Given the description of an element on the screen output the (x, y) to click on. 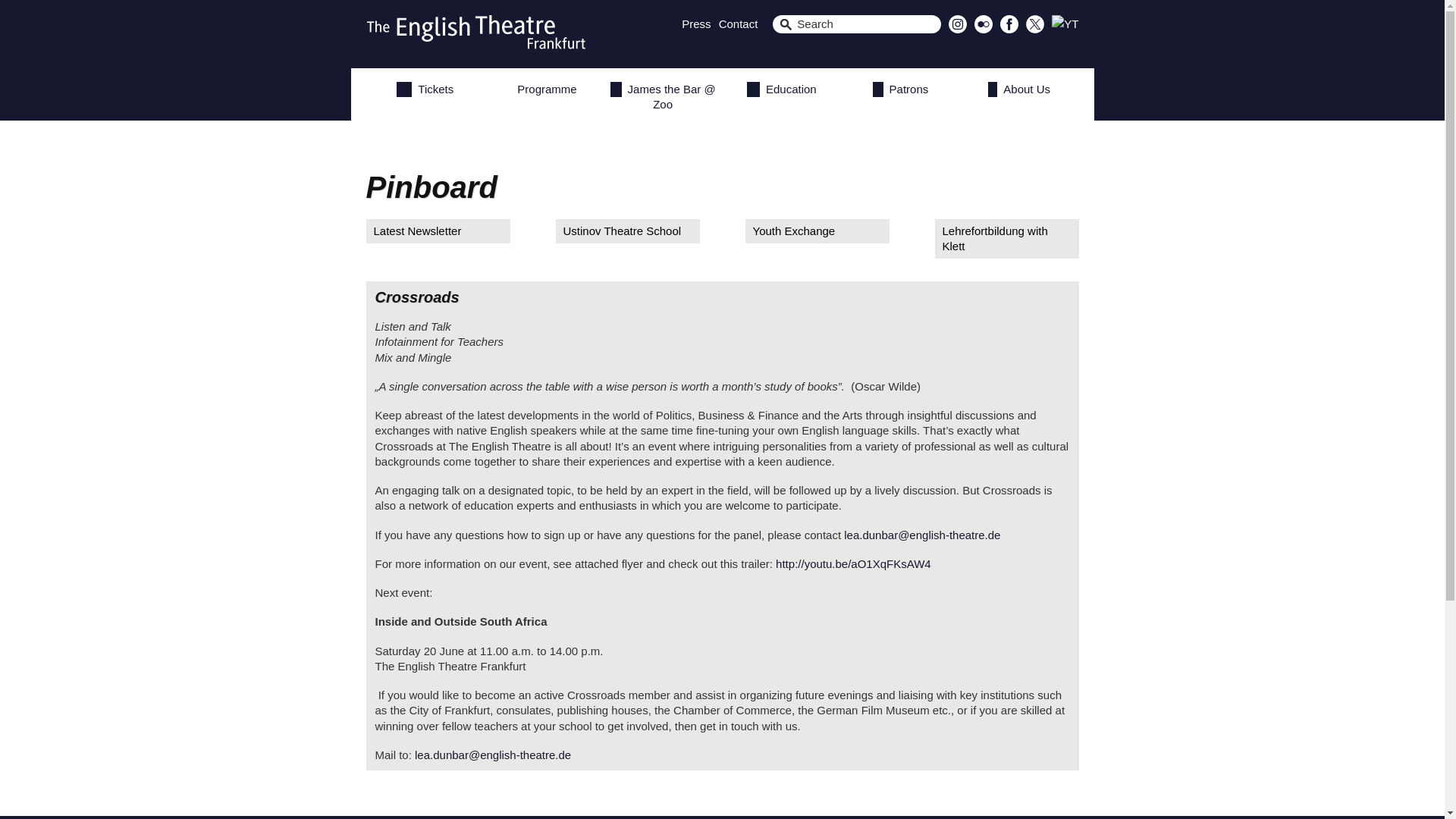
Tickets (424, 90)
The English Theatre Frankfurt on Instagram (957, 29)
Programme (544, 90)
Search (856, 24)
Search! (25, 8)
The English Theatre Frankfurt on YouTube (1064, 23)
The English Theatre Frankfurt on Flickr (983, 29)
Education (781, 90)
Patrons (900, 90)
Contact (738, 23)
